Given the description of an element on the screen output the (x, y) to click on. 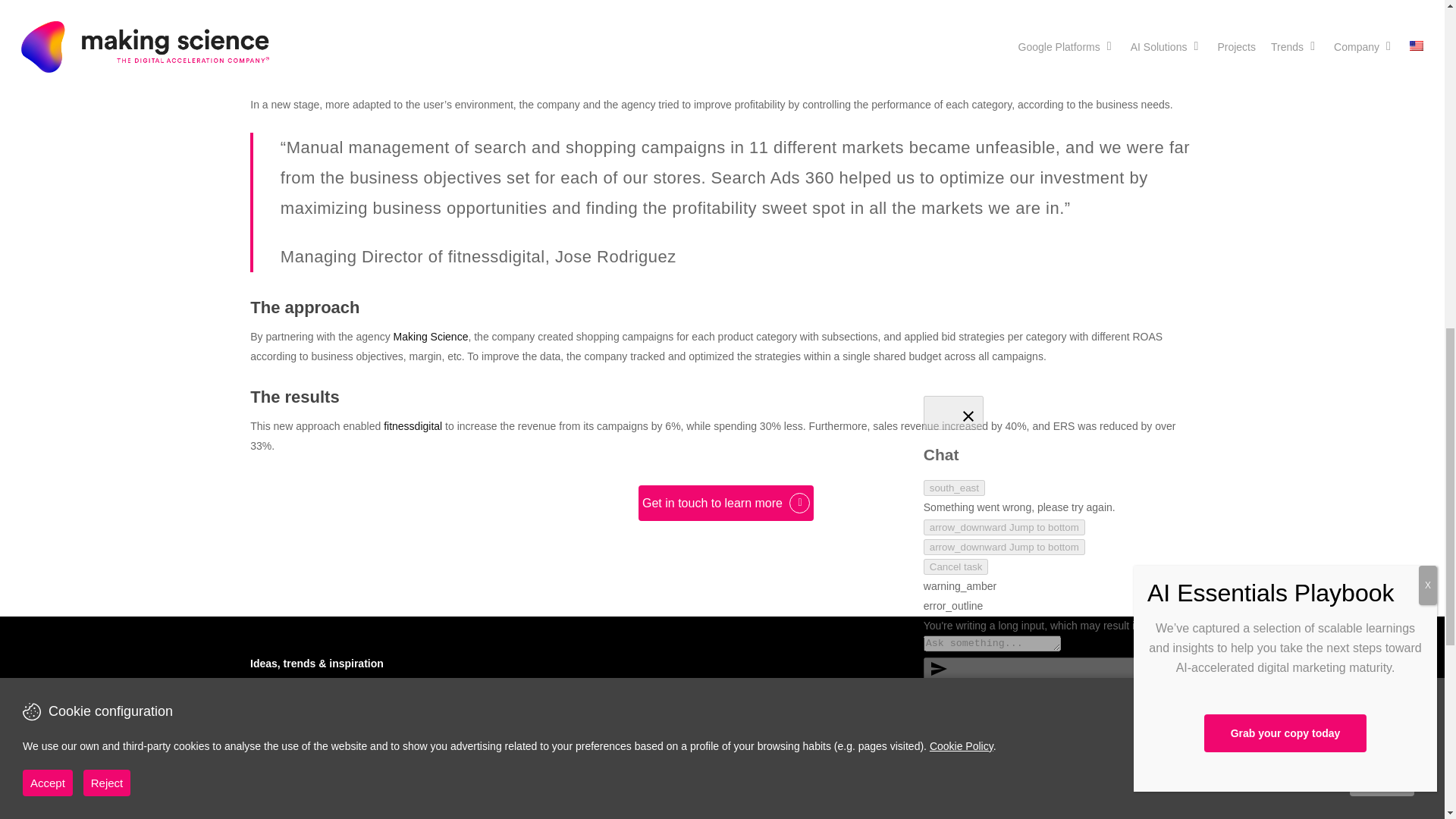
fitnessdigital (413, 426)
Get in touch to learn more (725, 503)
Making Science (430, 336)
